Given the description of an element on the screen output the (x, y) to click on. 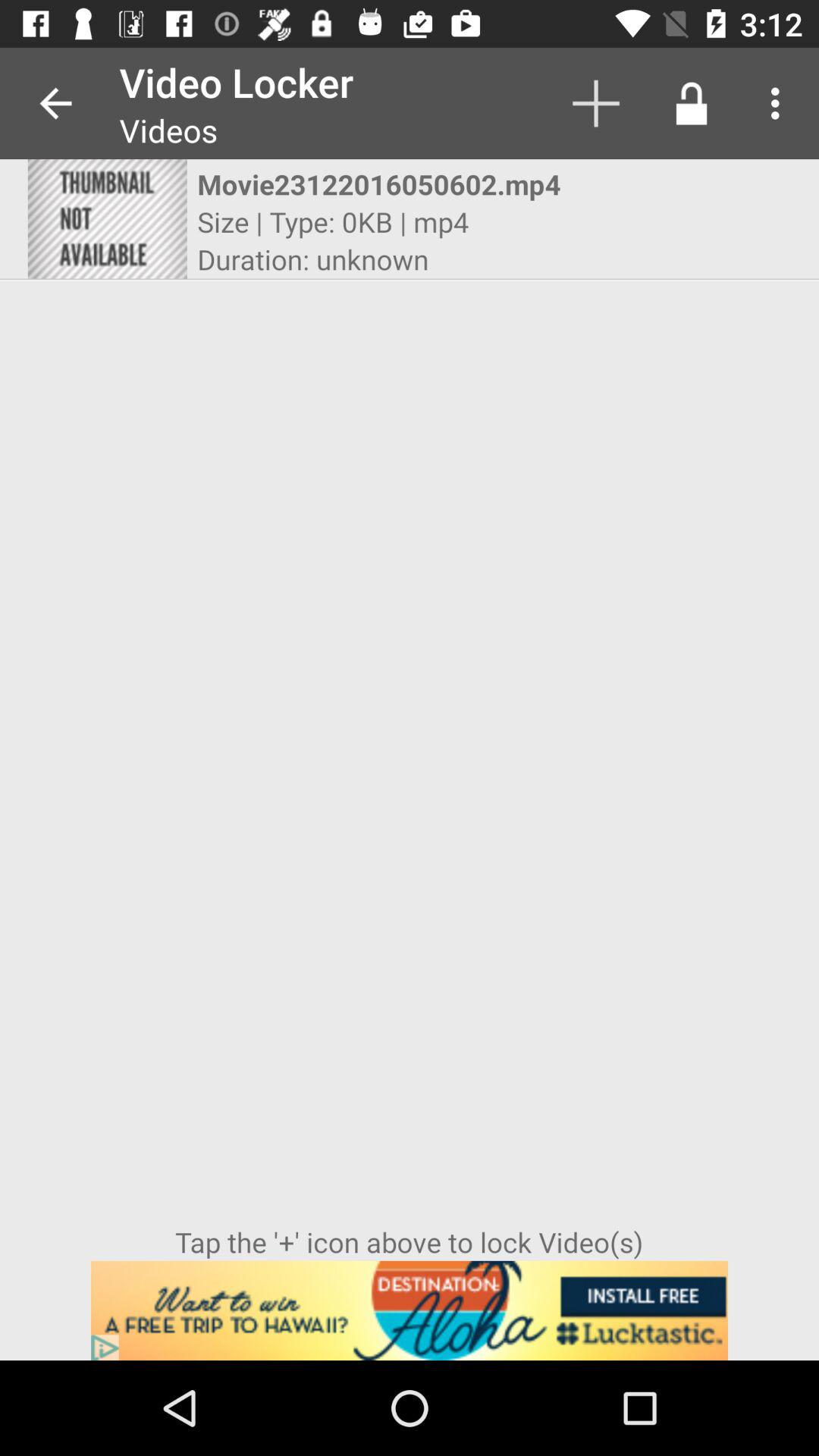
advertisement website (409, 1310)
